Given the description of an element on the screen output the (x, y) to click on. 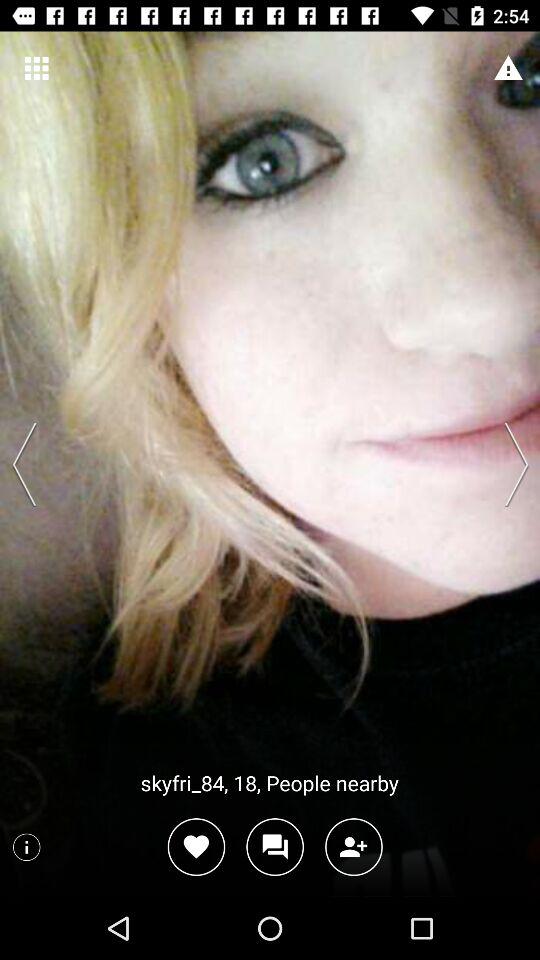
go back (29, 464)
